Given the description of an element on the screen output the (x, y) to click on. 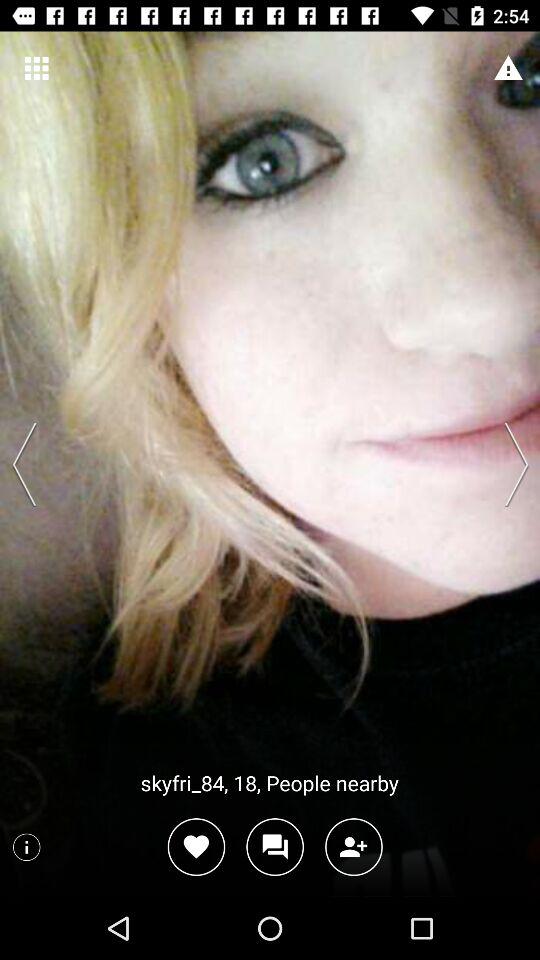
go back (29, 464)
